Given the description of an element on the screen output the (x, y) to click on. 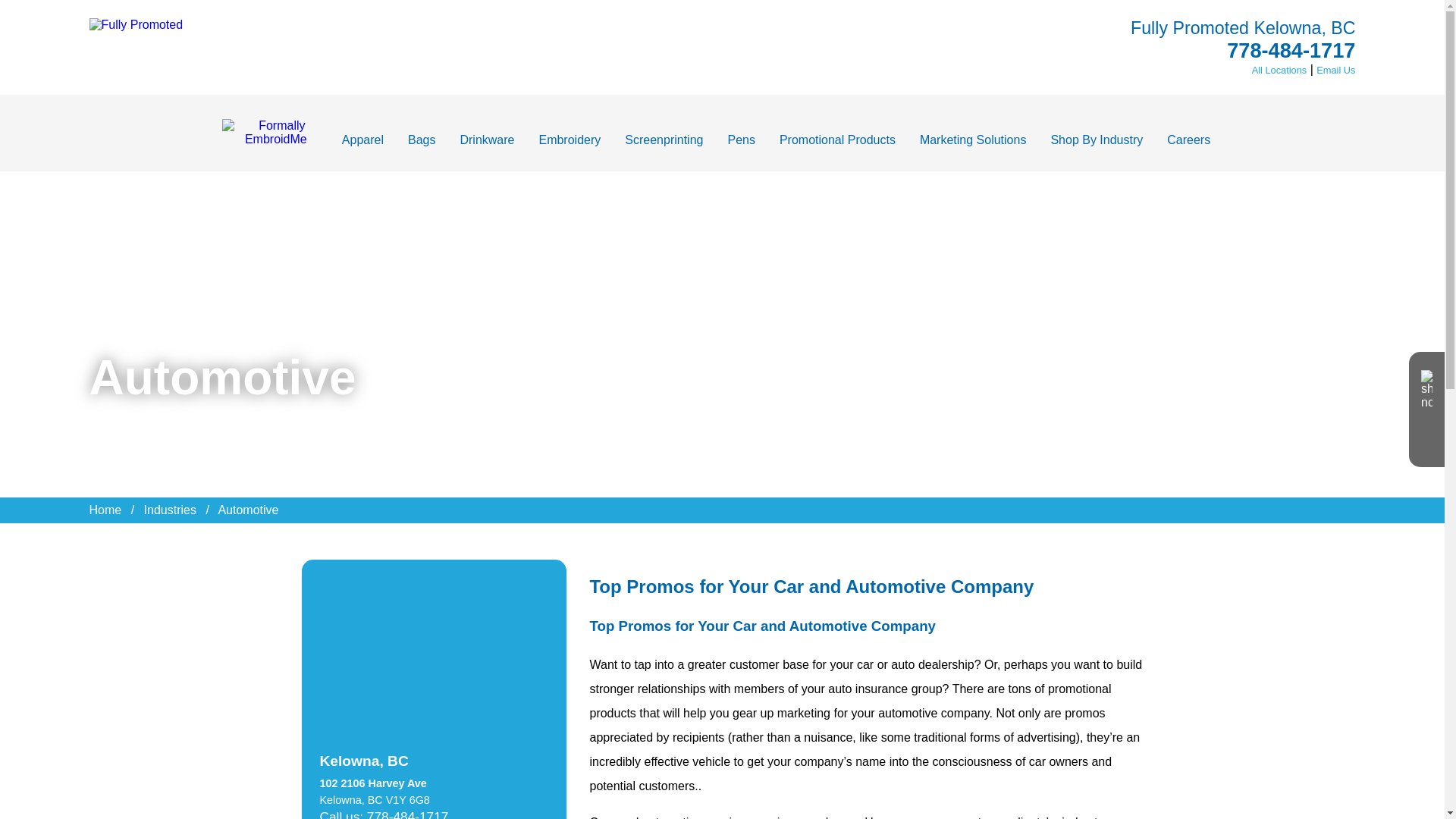
778-484-1717 (1291, 50)
All Locations (1279, 70)
Apparel (363, 139)
Embroidery (568, 139)
Bags (421, 139)
Drinkware (486, 139)
Email Us (1335, 70)
